Given the description of an element on the screen output the (x, y) to click on. 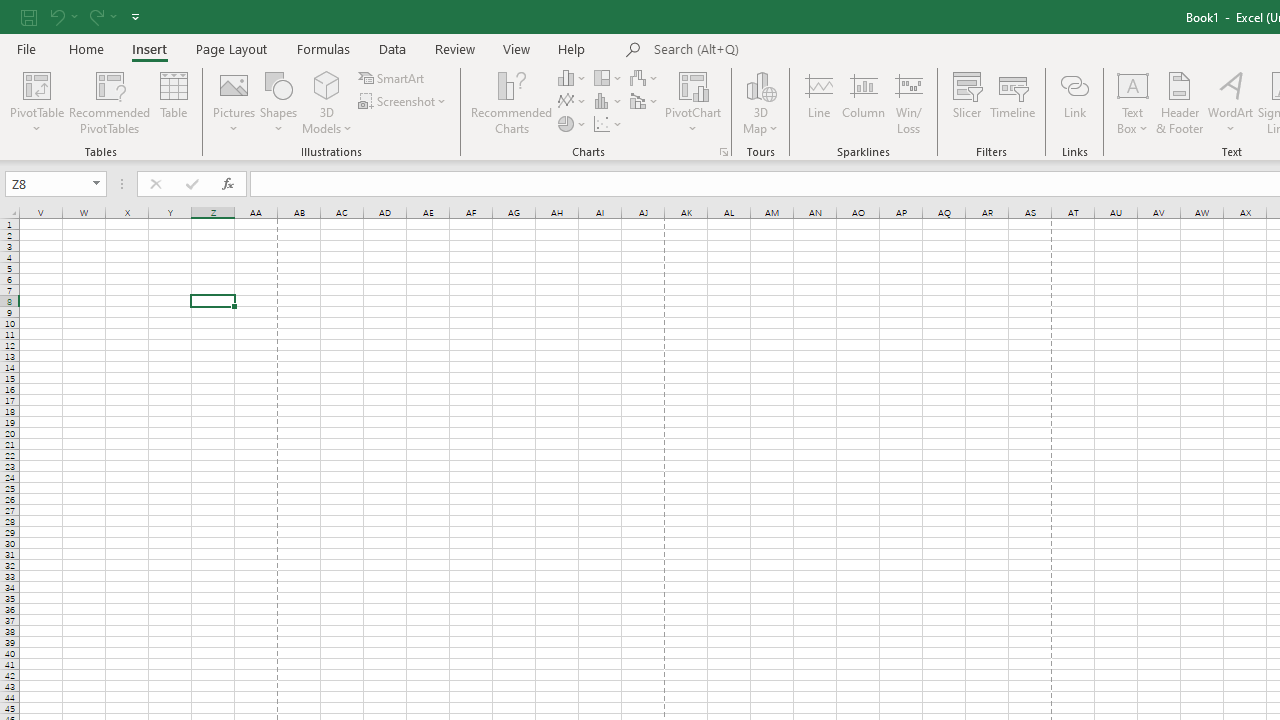
Insert Statistic Chart (609, 101)
3D Map (760, 102)
Timeline (1013, 102)
Recommended PivotTables (109, 102)
Slicer... (966, 102)
Text Box (1133, 102)
Draw Horizontal Text Box (1133, 84)
